Given the description of an element on the screen output the (x, y) to click on. 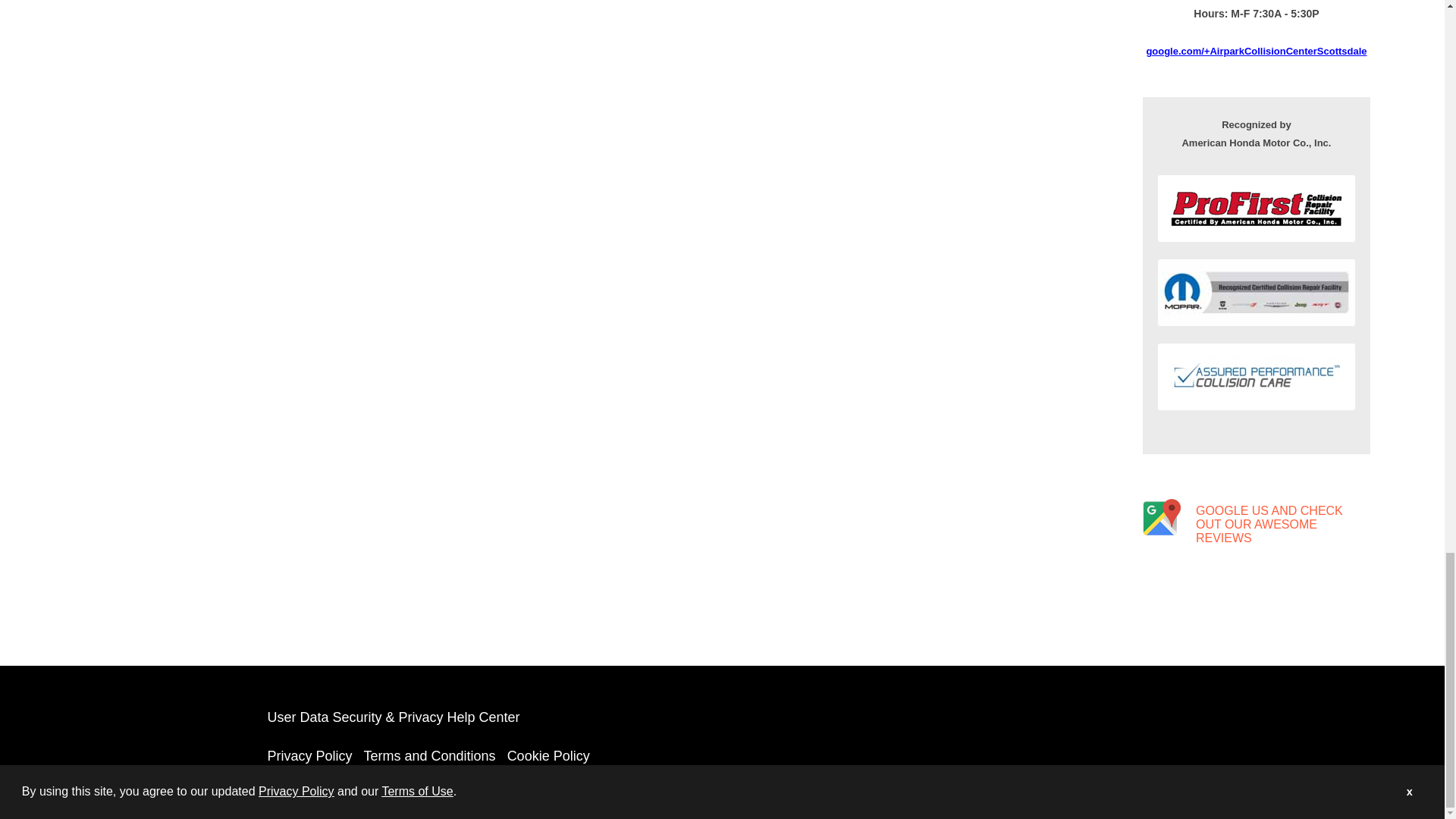
Terms and Conditions (430, 755)
Cookie Policy (547, 755)
Privacy Policy (309, 755)
